Given the description of an element on the screen output the (x, y) to click on. 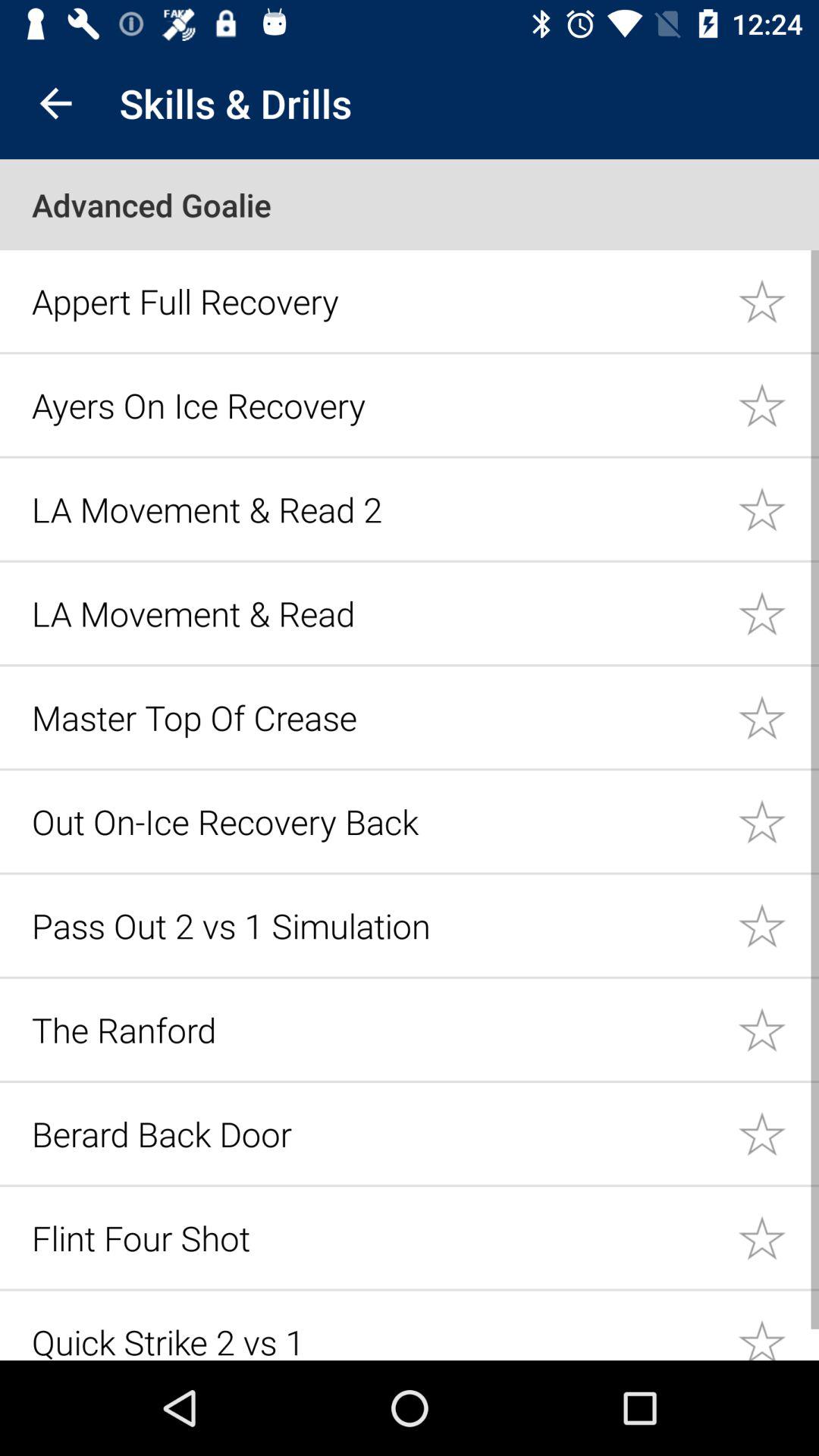
likes (778, 821)
